Given the description of an element on the screen output the (x, y) to click on. 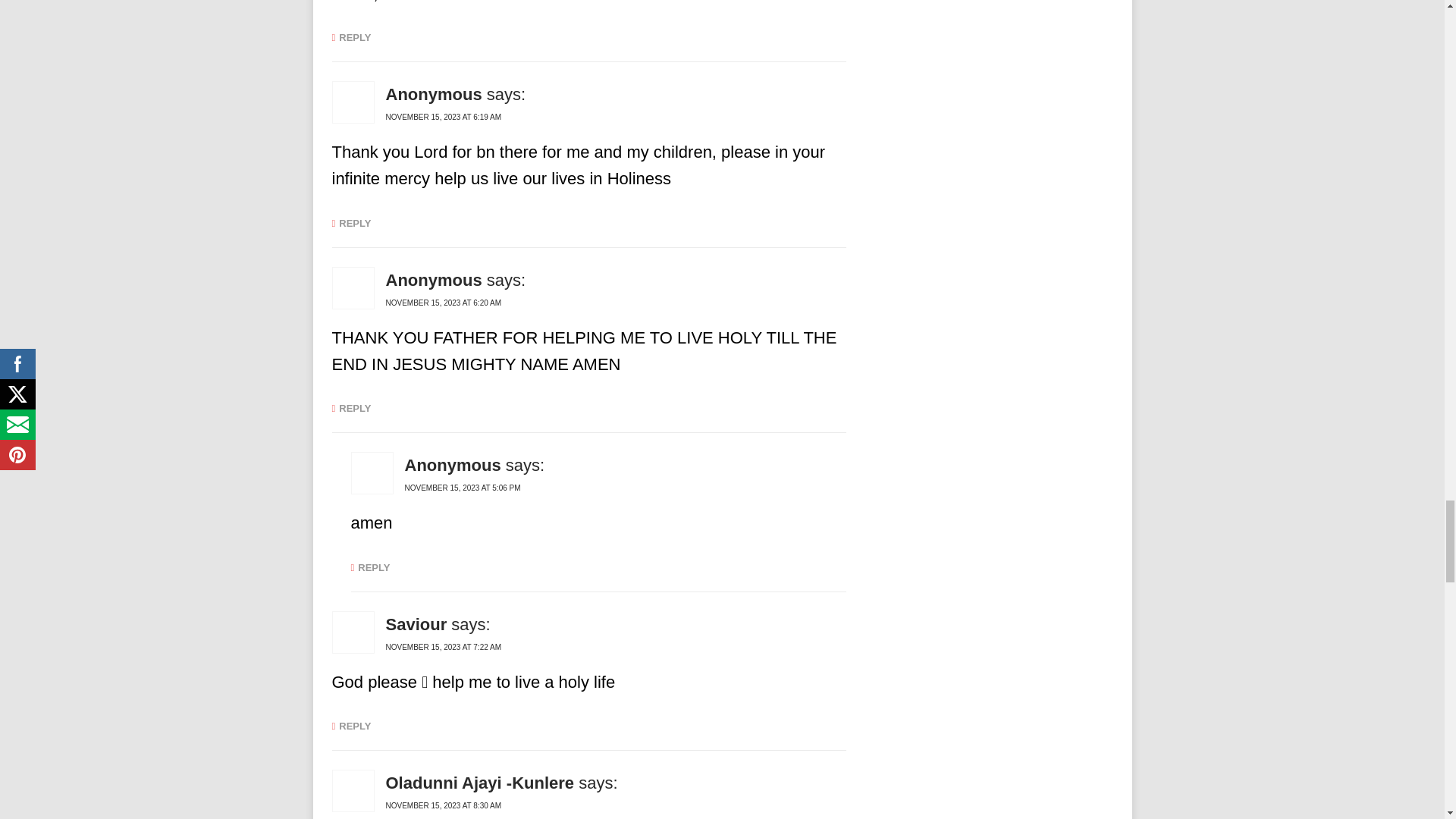
REPLY (351, 37)
